Given the description of an element on the screen output the (x, y) to click on. 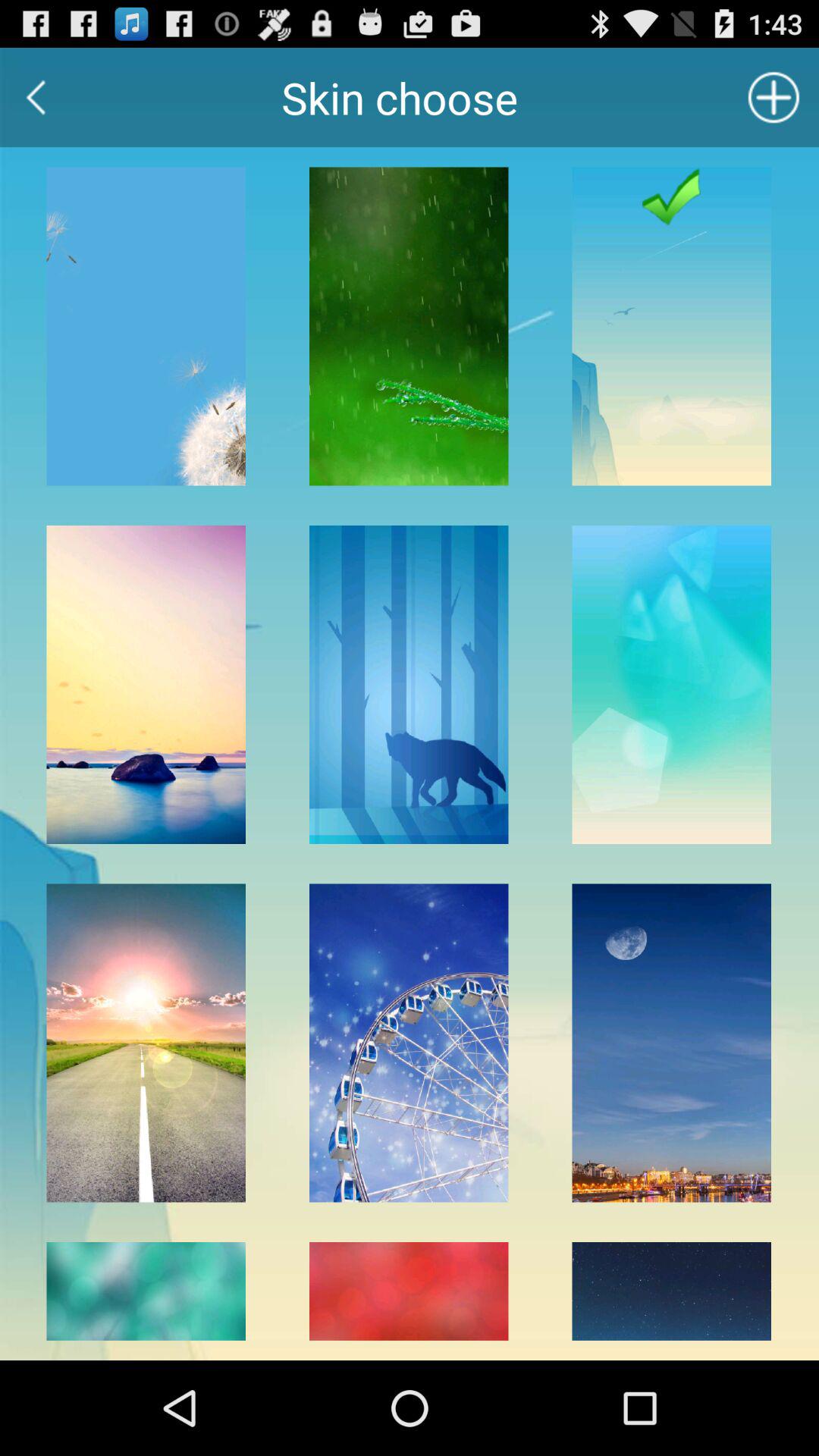
choose icon to the right of skin choose item (773, 97)
